Given the description of an element on the screen output the (x, y) to click on. 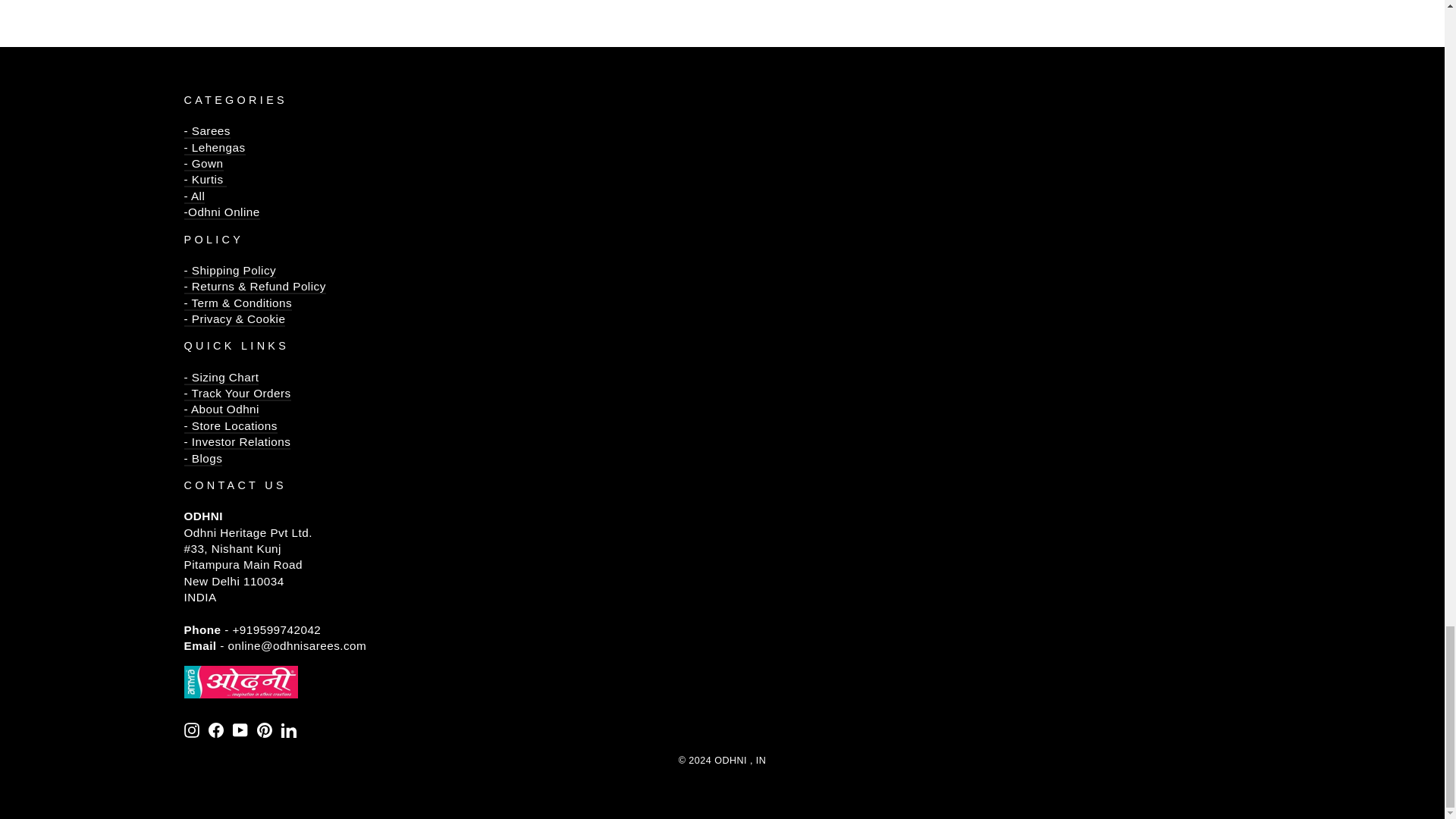
Kurtis (205, 179)
Sarees (206, 139)
Lehengas (213, 147)
Party Wear Gown For Women (202, 164)
